Given the description of an element on the screen output the (x, y) to click on. 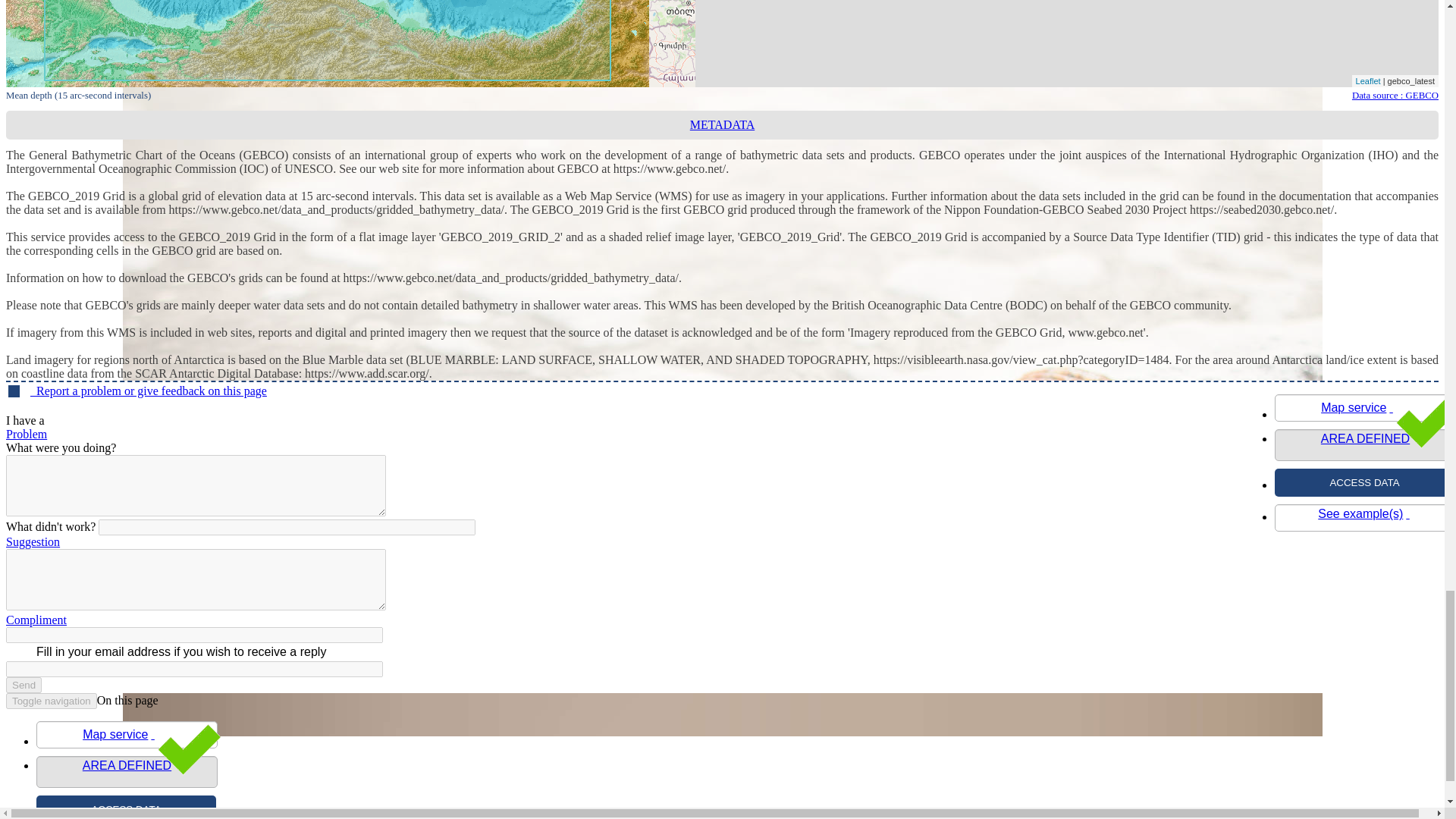
ACCESS DATA (125, 807)
